Given the description of an element on the screen output the (x, y) to click on. 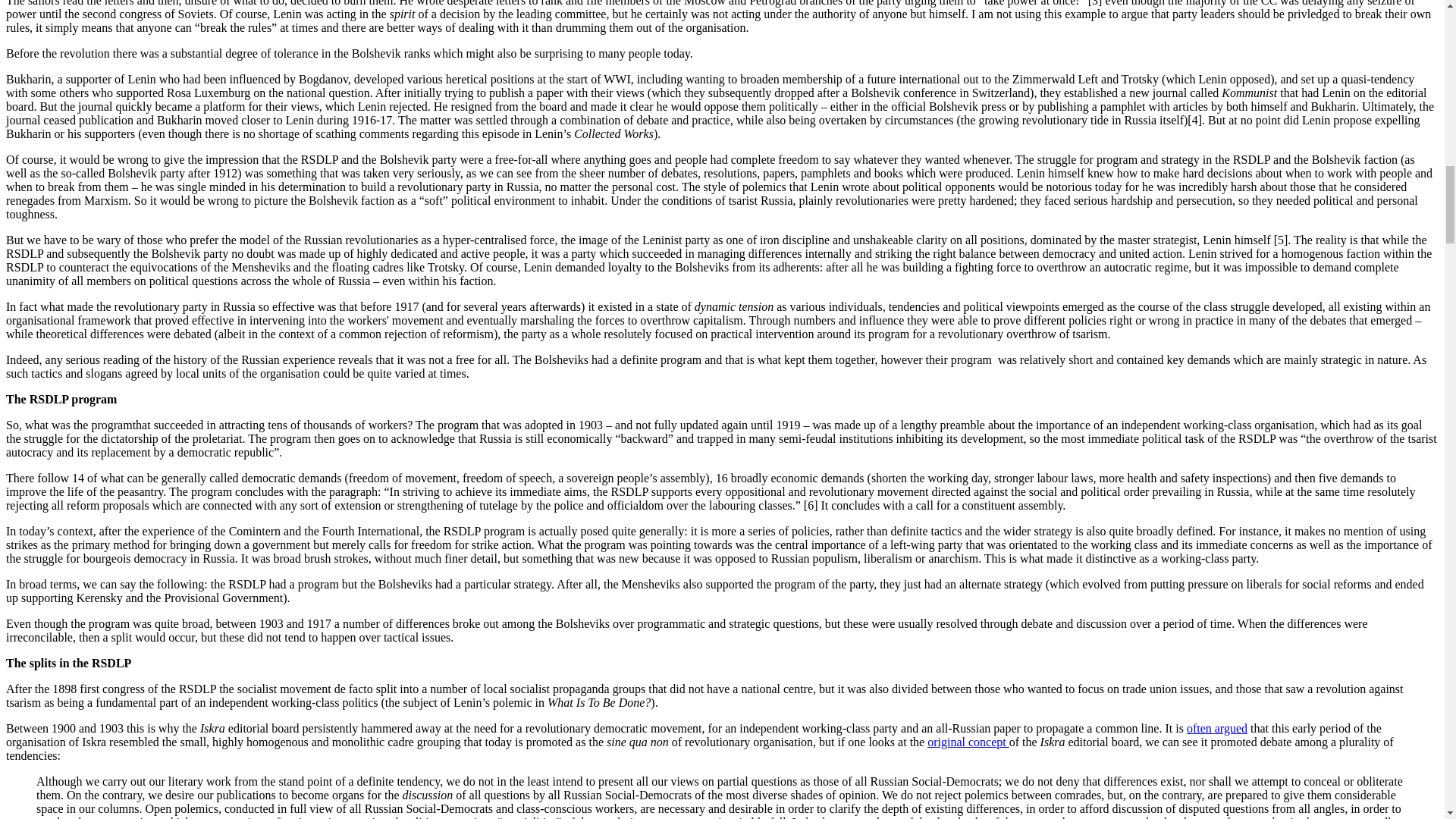
original concept  (968, 741)
often argued (1216, 727)
